Given the description of an element on the screen output the (x, y) to click on. 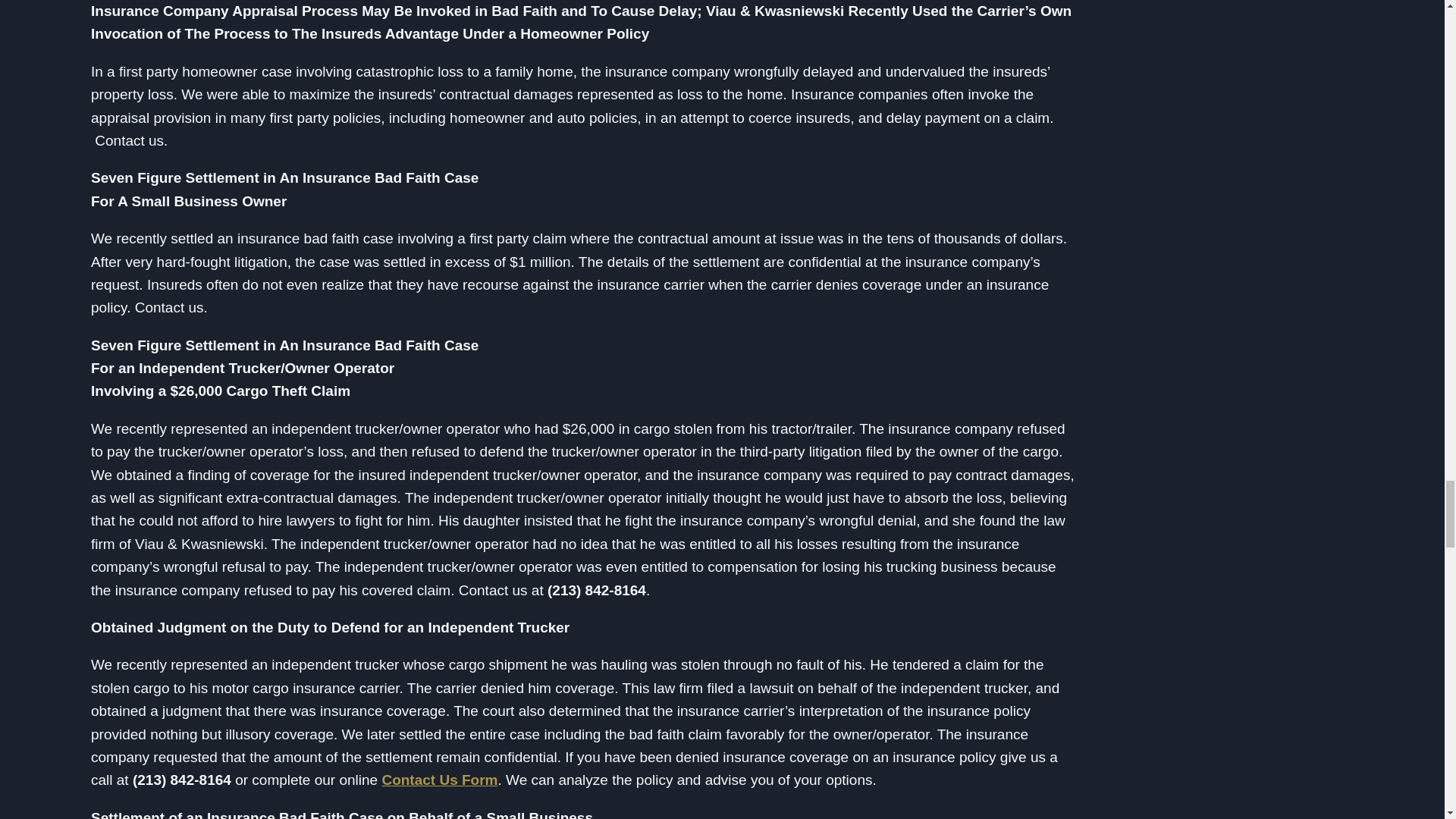
Contact Us Form (439, 779)
